Given the description of an element on the screen output the (x, y) to click on. 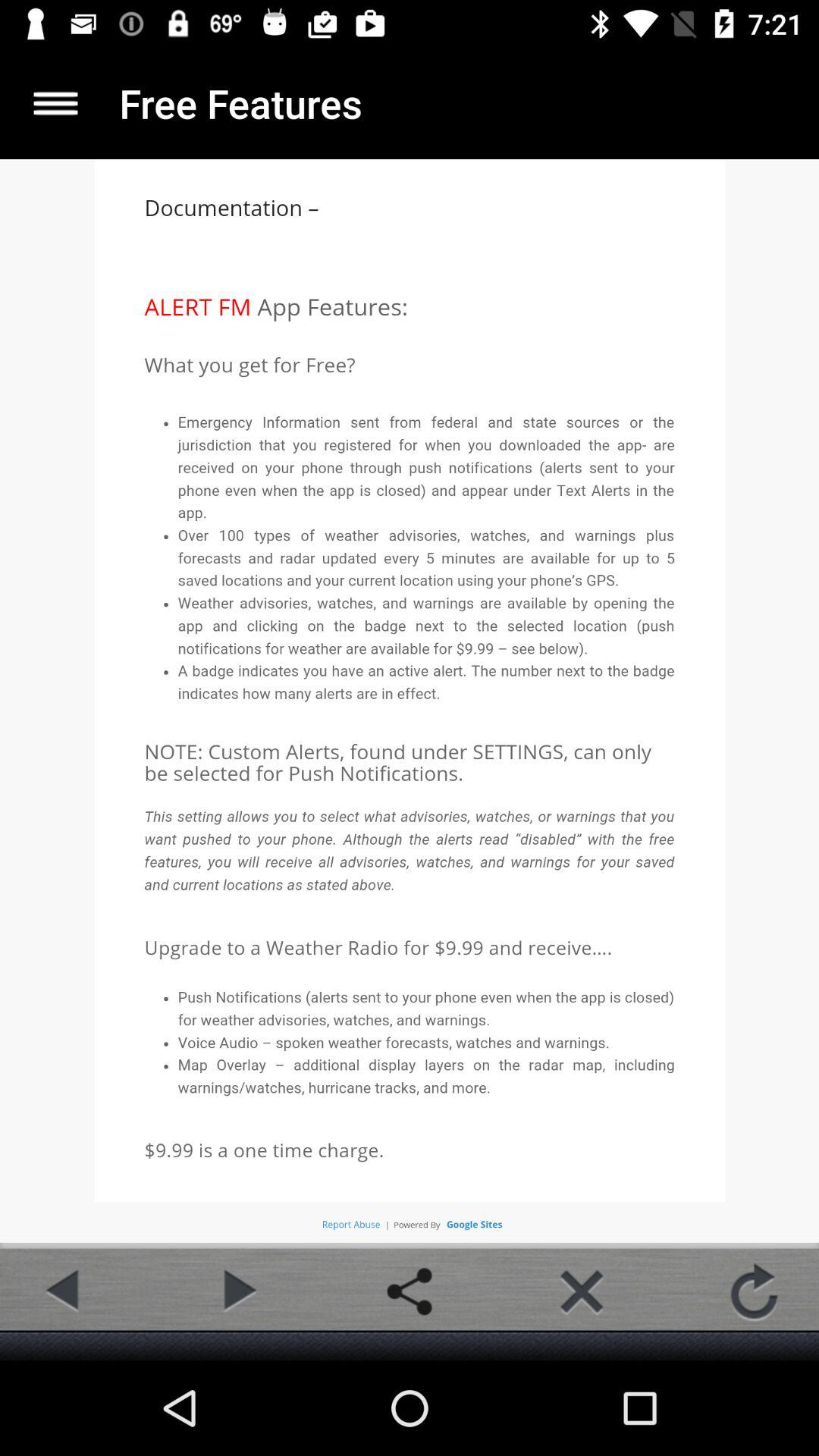
next the option (237, 1291)
